Given the description of an element on the screen output the (x, y) to click on. 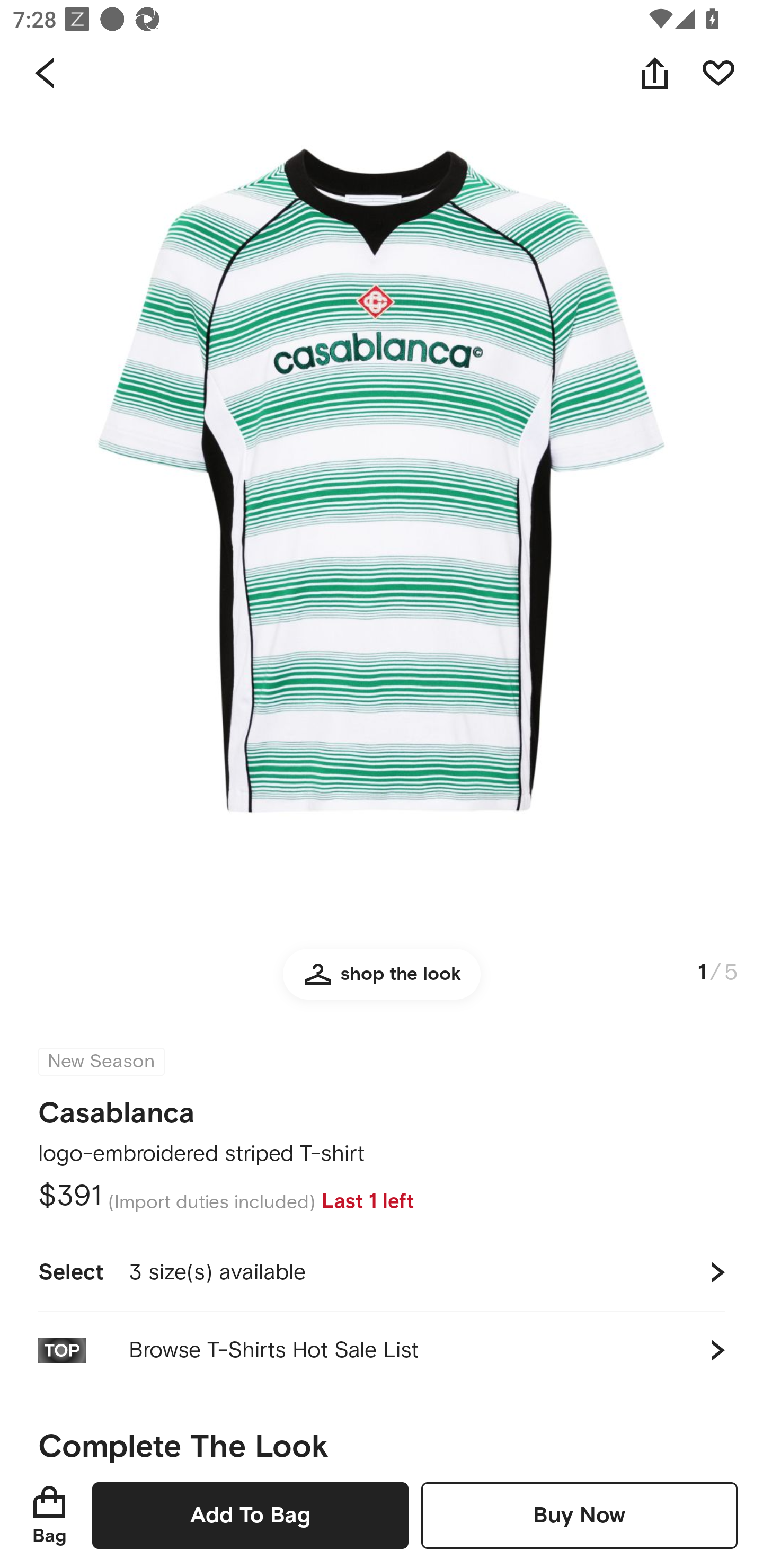
shop the look (381, 982)
Casablanca (116, 1107)
Select 3 size(s) available (381, 1272)
Browse T-Shirts Hot Sale List (381, 1349)
Bag (49, 1515)
Add To Bag (250, 1515)
Buy Now (579, 1515)
